Given the description of an element on the screen output the (x, y) to click on. 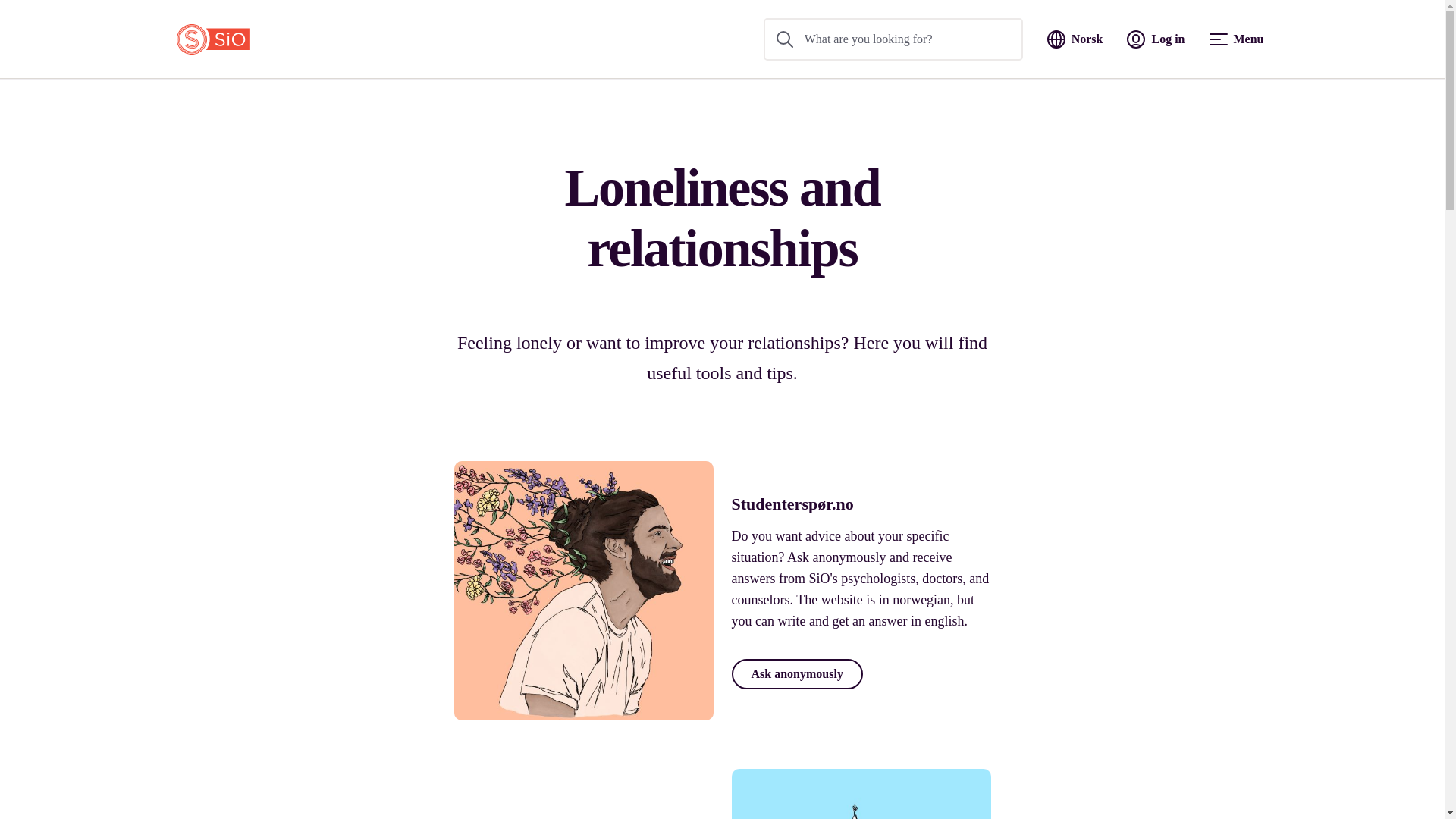
Menu (1236, 39)
Log in (1155, 39)
logo-type (212, 39)
menu (1217, 39)
world (1055, 39)
Norsk (1075, 39)
my-page (1135, 39)
Ask anonymously (795, 674)
search (784, 39)
